Given the description of an element on the screen output the (x, y) to click on. 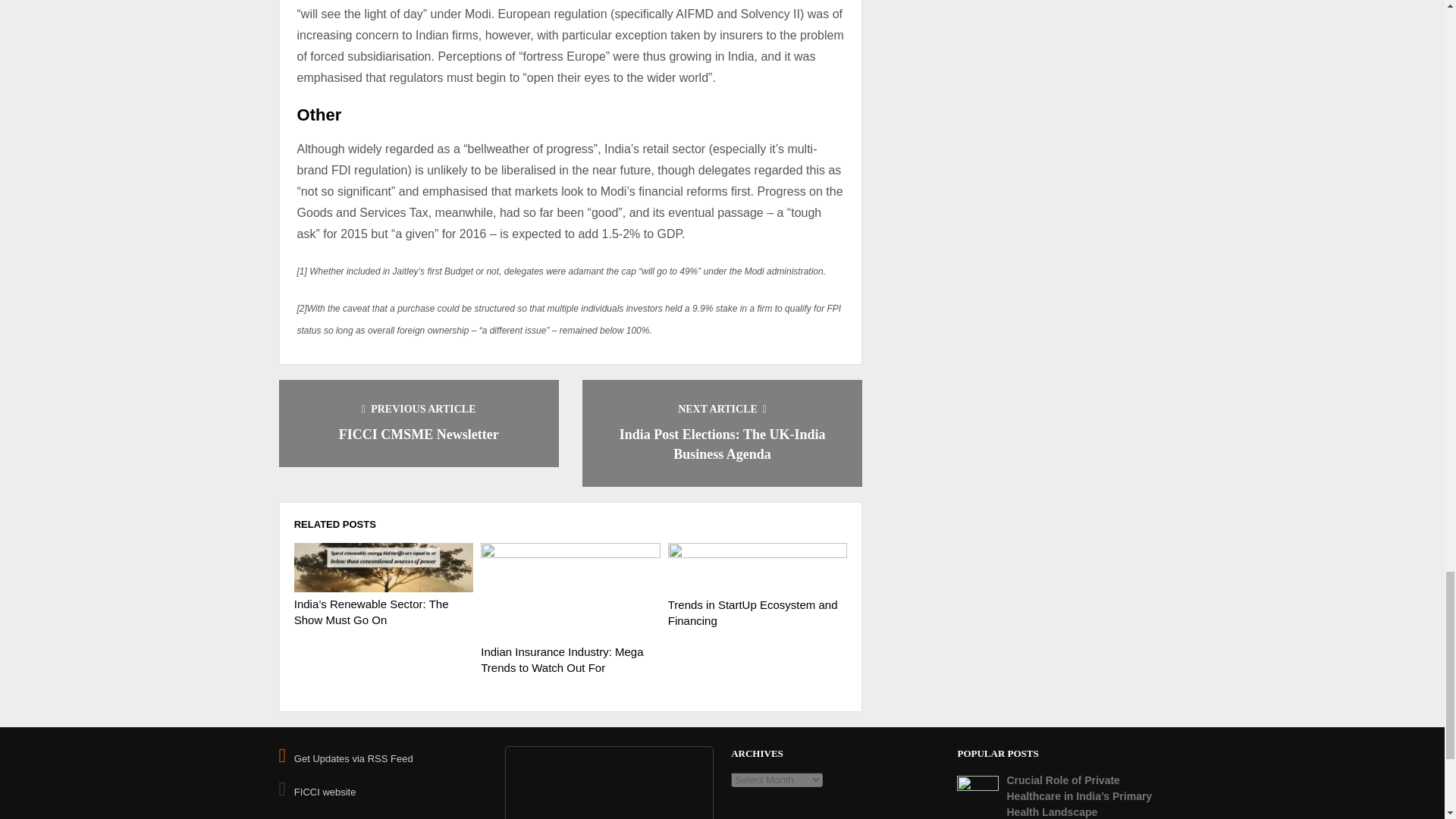
Trends in StartUp Ecosystem and Financing (757, 567)
Trends in StartUp Ecosystem and Financing (753, 612)
Indian Insurance Industry: Mega Trends to Watch Out For (561, 659)
India Post Elections: The UK-India Business Agenda (722, 443)
Indian Insurance Industry: Mega Trends to Watch Out For (569, 590)
Indian Insurance Industry: Mega Trends to Watch Out For (561, 659)
Trends in StartUp Ecosystem and Financing (753, 612)
FICCI CMSME Newsletter (419, 434)
